Given the description of an element on the screen output the (x, y) to click on. 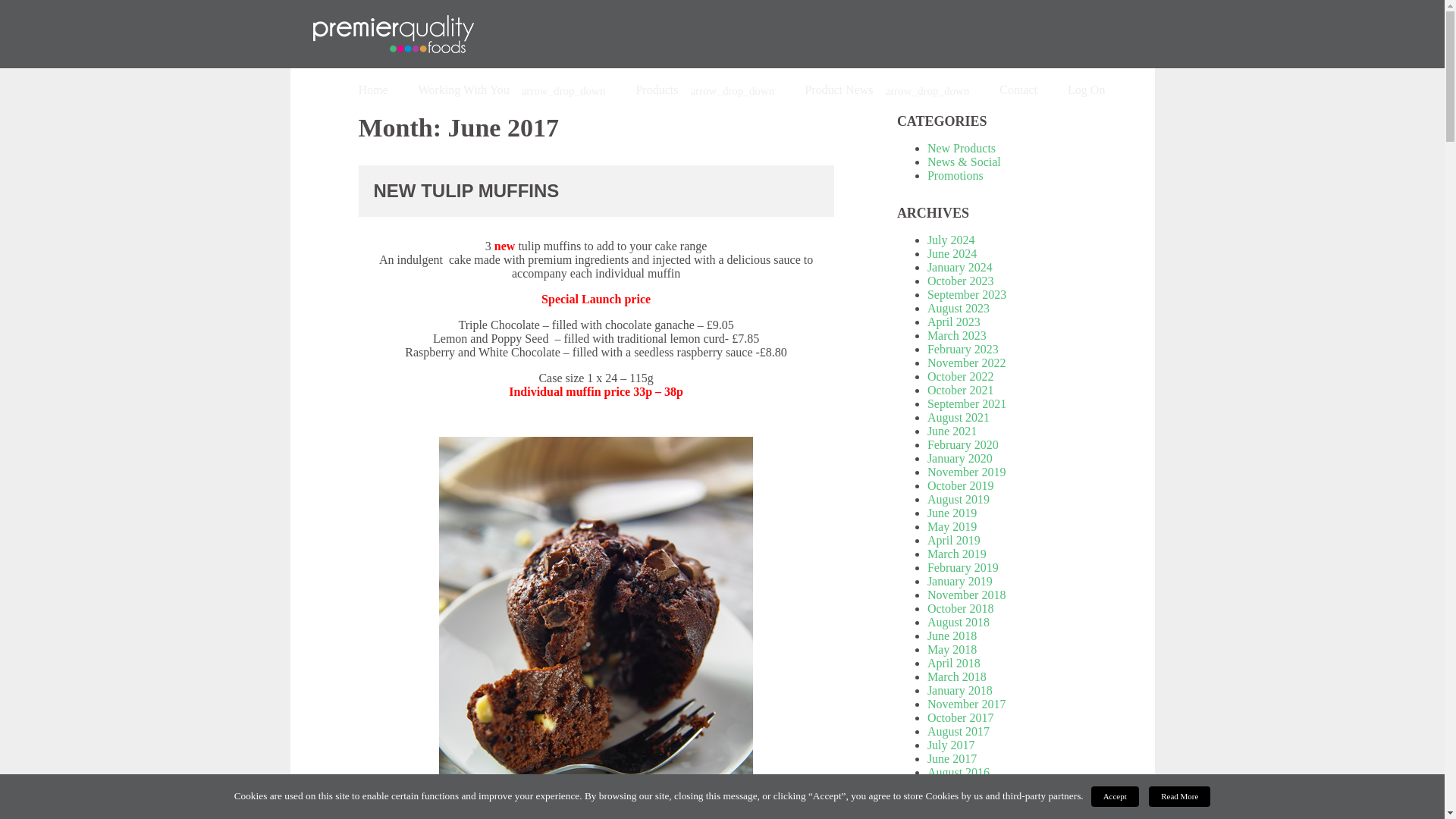
July 2024 (951, 239)
October 2023 (960, 280)
Promotions (955, 174)
Contact (1018, 90)
NEW TULIP MUFFINS (465, 190)
September 2023 (966, 294)
Log On (1085, 90)
January 2024 (959, 267)
June 2024 (951, 253)
New Products (961, 147)
